Given the description of an element on the screen output the (x, y) to click on. 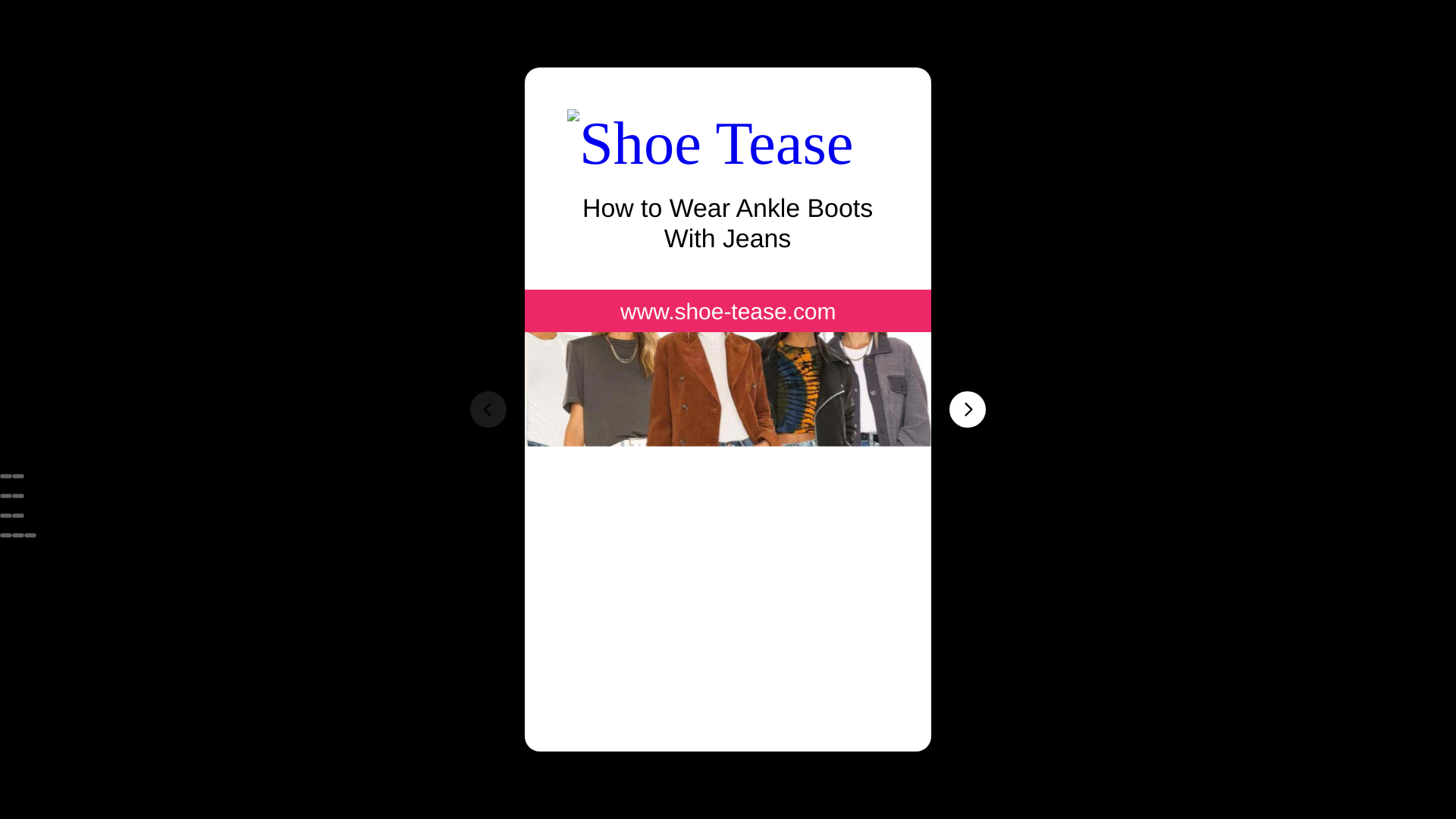
www.shoe-tease.com (726, 312)
